Given the description of an element on the screen output the (x, y) to click on. 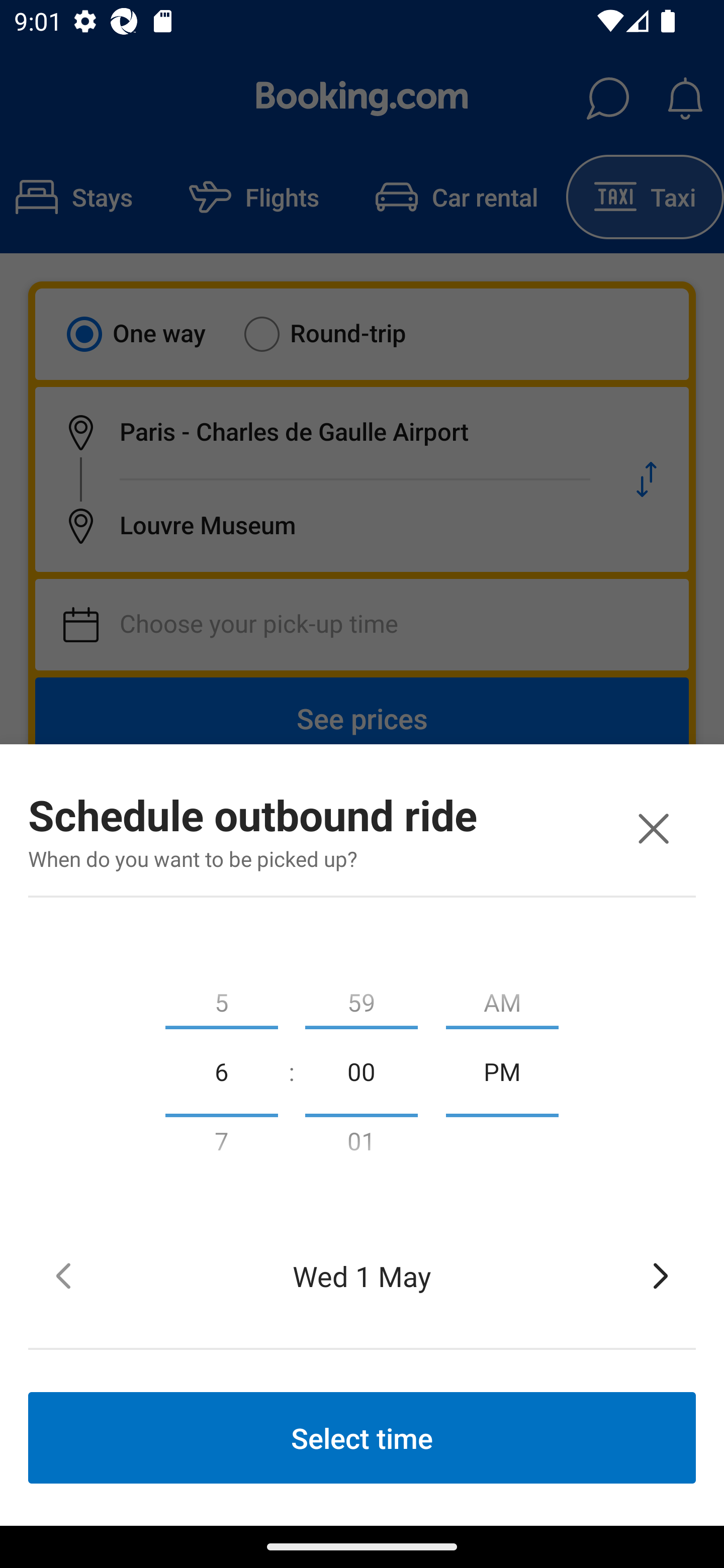
Close window (653, 828)
5 (221, 997)
59 (361, 997)
AM (501, 997)
6 (221, 1070)
00 (361, 1070)
PM (501, 1070)
7 (221, 1144)
01 (361, 1144)
Tap to move back to the previous date (63, 1275)
Tap to move forward to the next date (660, 1275)
Wed 1 May Selected date, Wednesday, 1 May (361, 1275)
Select time (361, 1437)
